Given the description of an element on the screen output the (x, y) to click on. 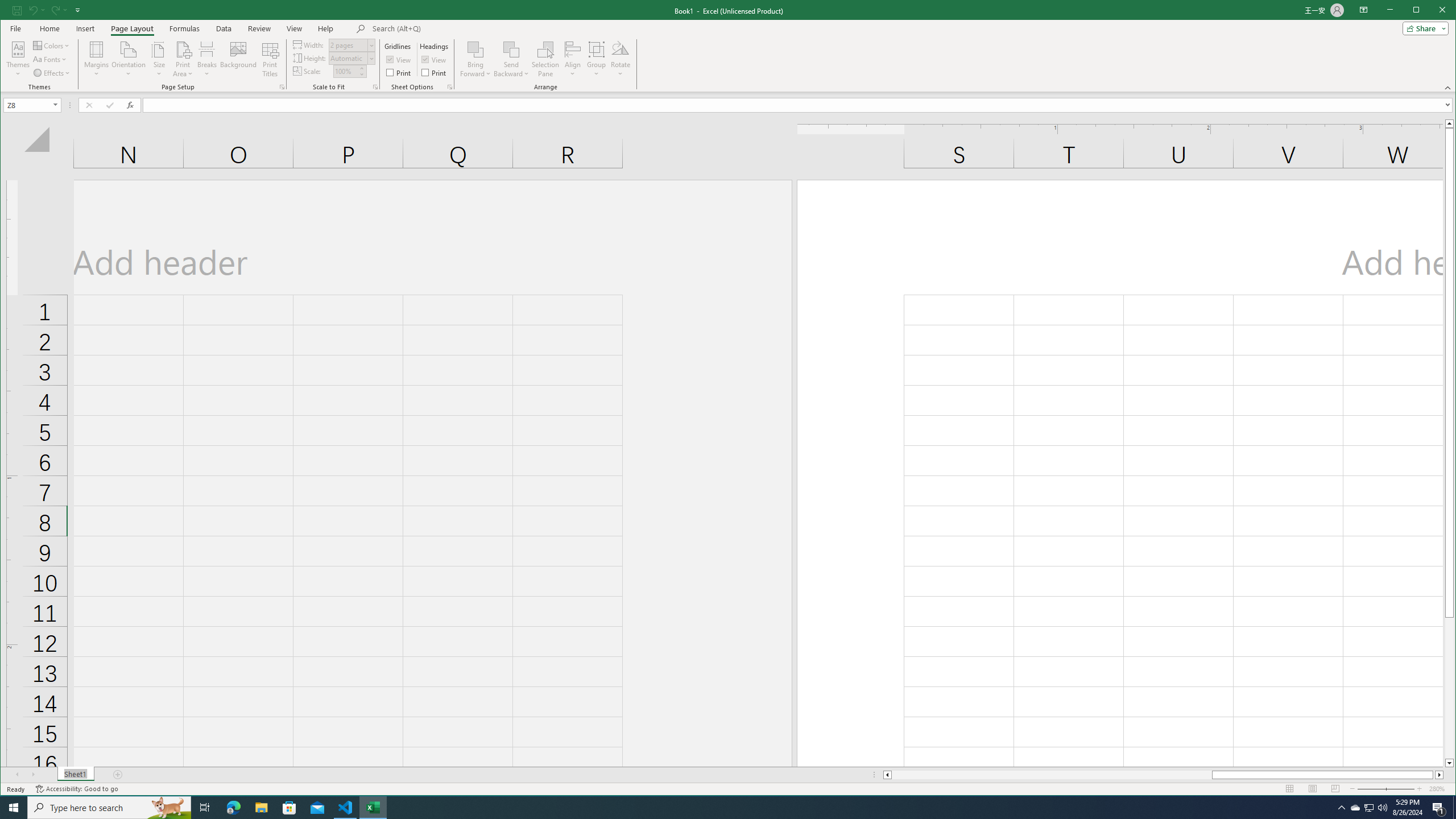
Height (352, 57)
User Promoted Notification Area (1368, 807)
Sheet Tab (75, 774)
